Given the description of an element on the screen output the (x, y) to click on. 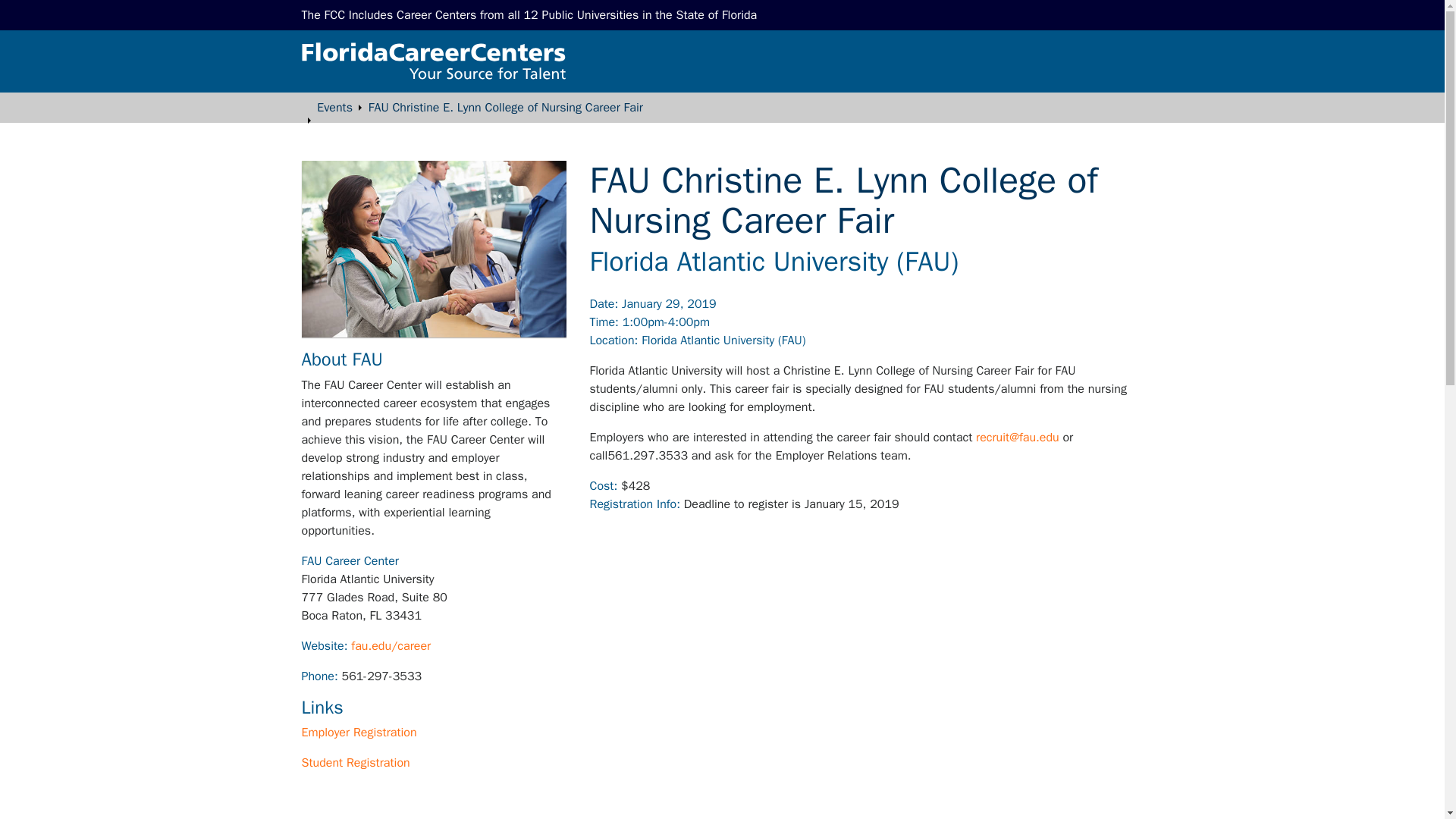
Events (334, 107)
Employer Registration (358, 732)
Student Registration (355, 762)
FAU Christine E. Lynn College of Nursing Career Fair (505, 107)
